Given the description of an element on the screen output the (x, y) to click on. 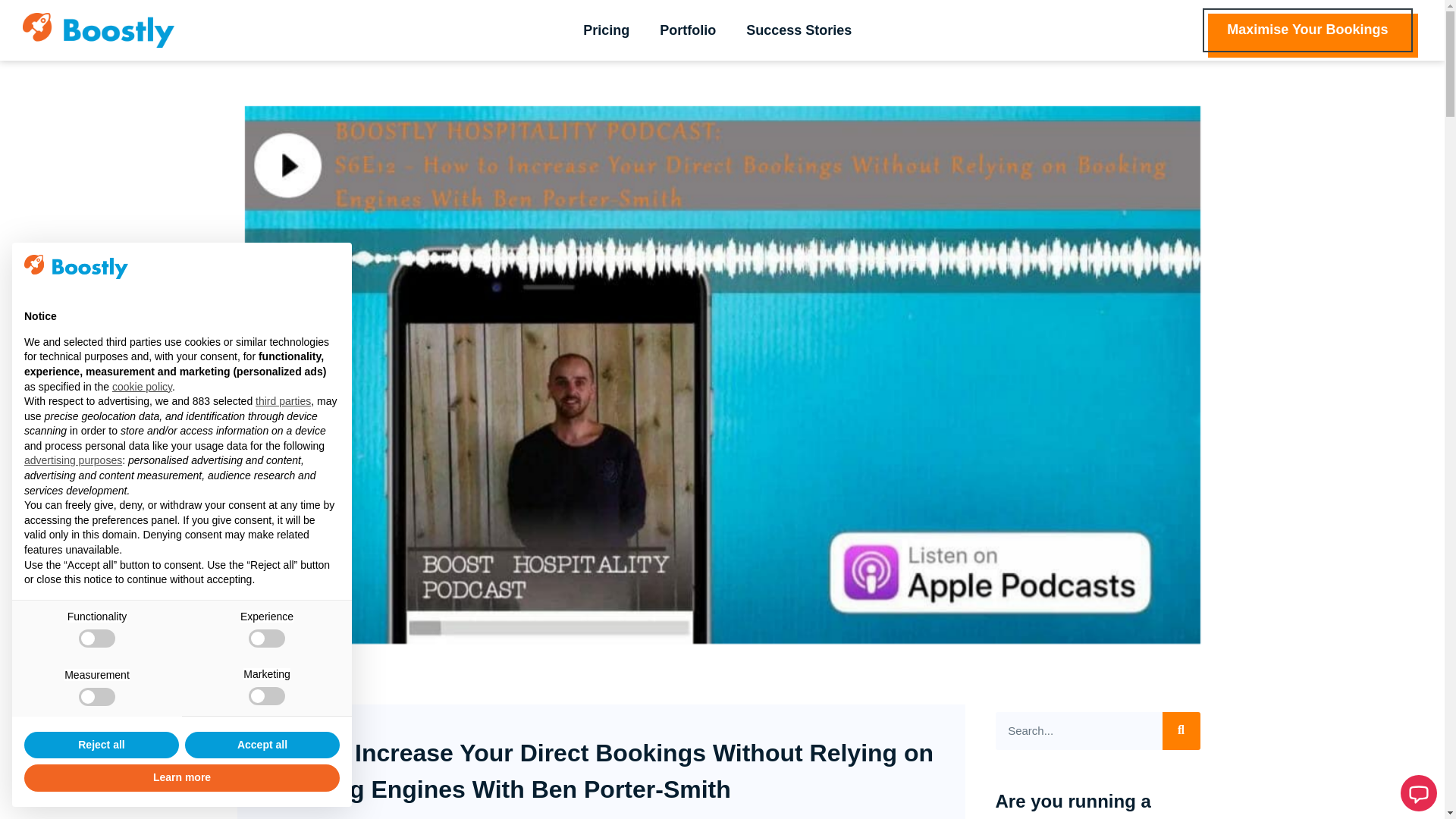
Pricing (606, 30)
false (96, 696)
Portfolio (687, 30)
Success Stories (798, 30)
false (96, 638)
false (266, 638)
Maximise Your Bookings (1307, 29)
false (266, 696)
